Given the description of an element on the screen output the (x, y) to click on. 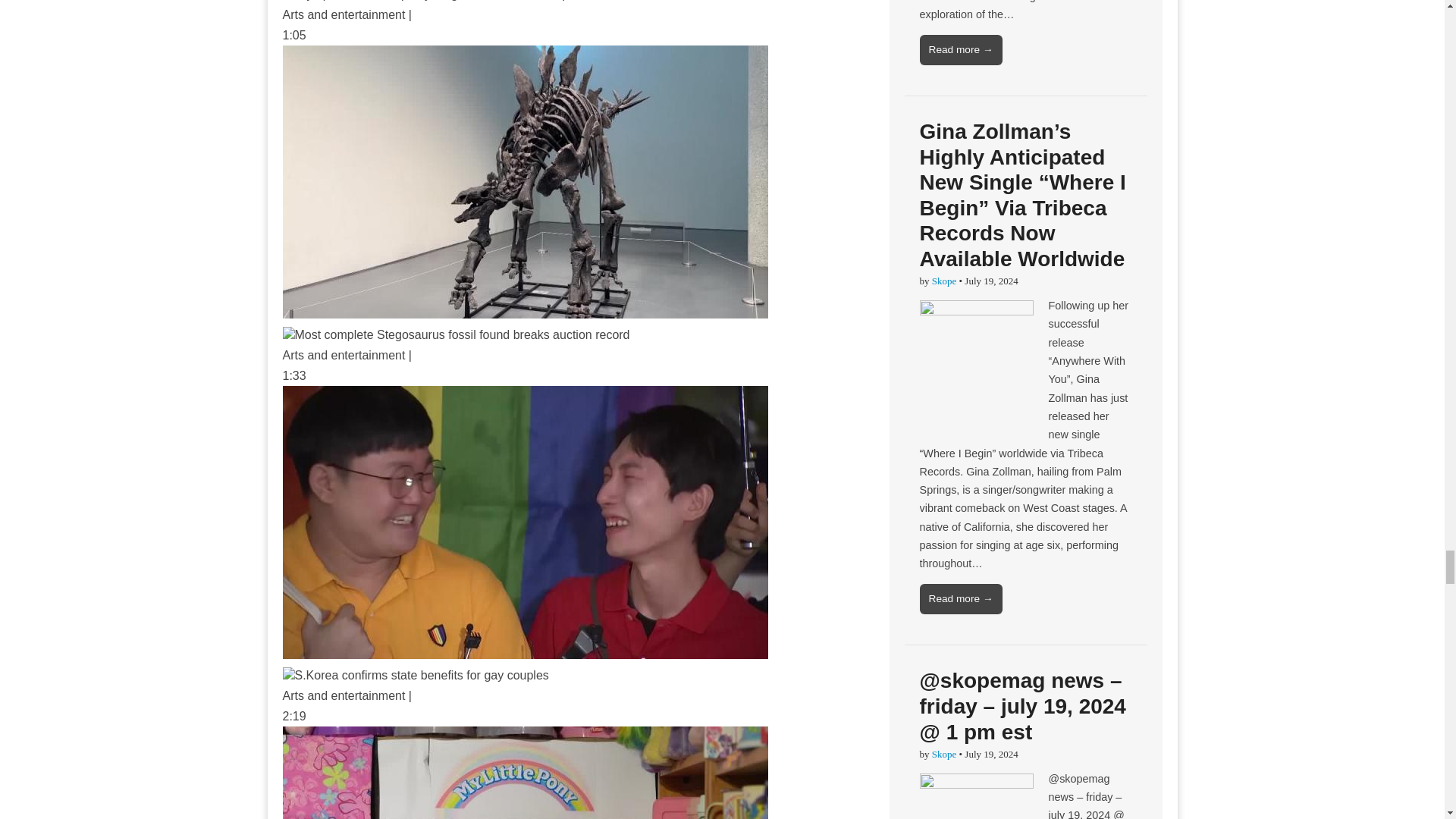
Posts by Skope (943, 754)
Posts by Skope (943, 280)
